Given the description of an element on the screen output the (x, y) to click on. 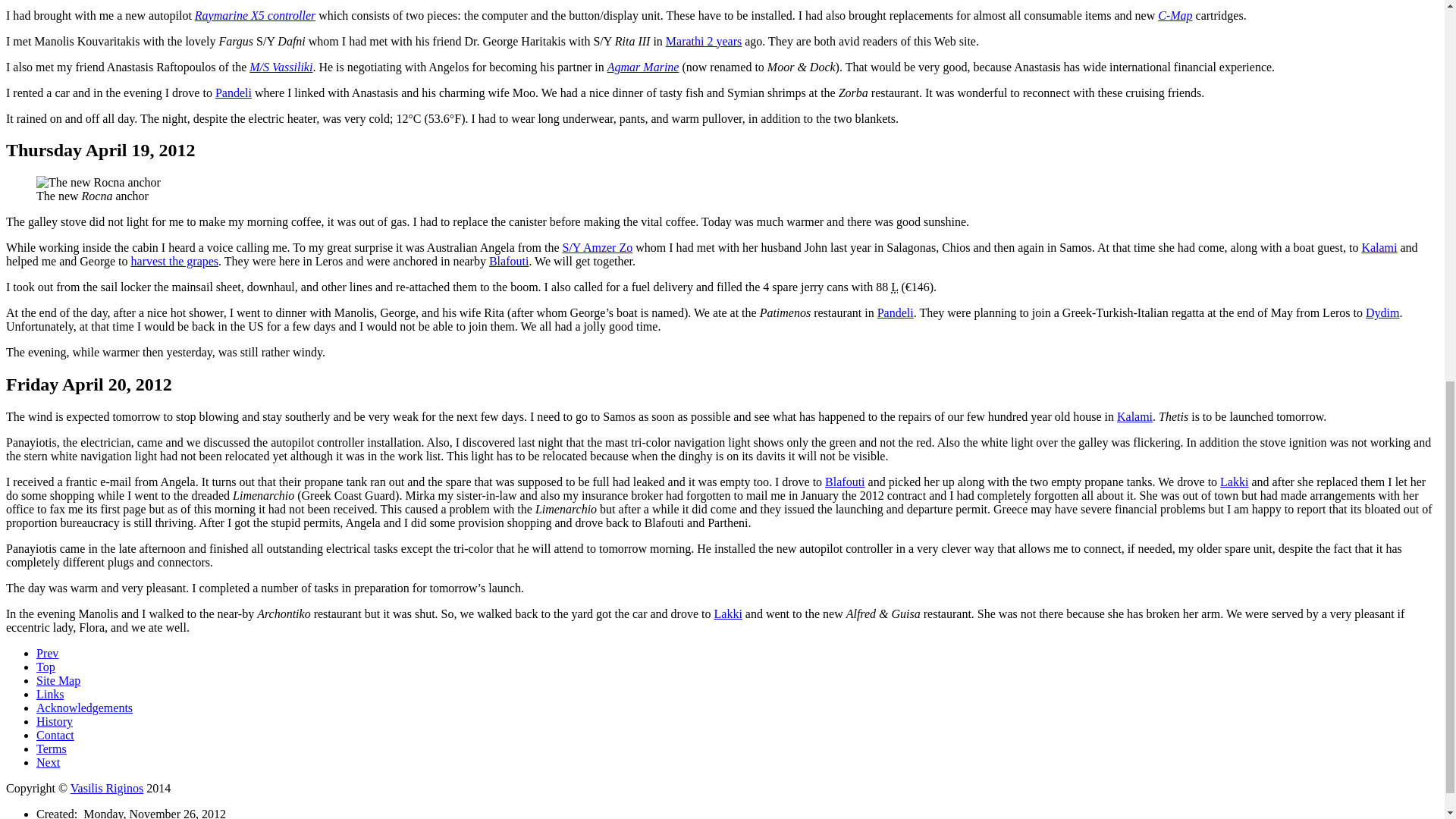
C-Map (1174, 14)
Raymarine X5 controller (255, 14)
Site History (54, 721)
Site Map (58, 680)
Lakki (1233, 481)
Contact (55, 735)
Aegean (47, 653)
Top (45, 666)
Kalami (1134, 416)
Kalami (1378, 246)
Useful Links (50, 694)
Legal Use (51, 748)
Agmar Marine (643, 65)
Acknowledgements (84, 707)
How to contact me (55, 735)
